Given the description of an element on the screen output the (x, y) to click on. 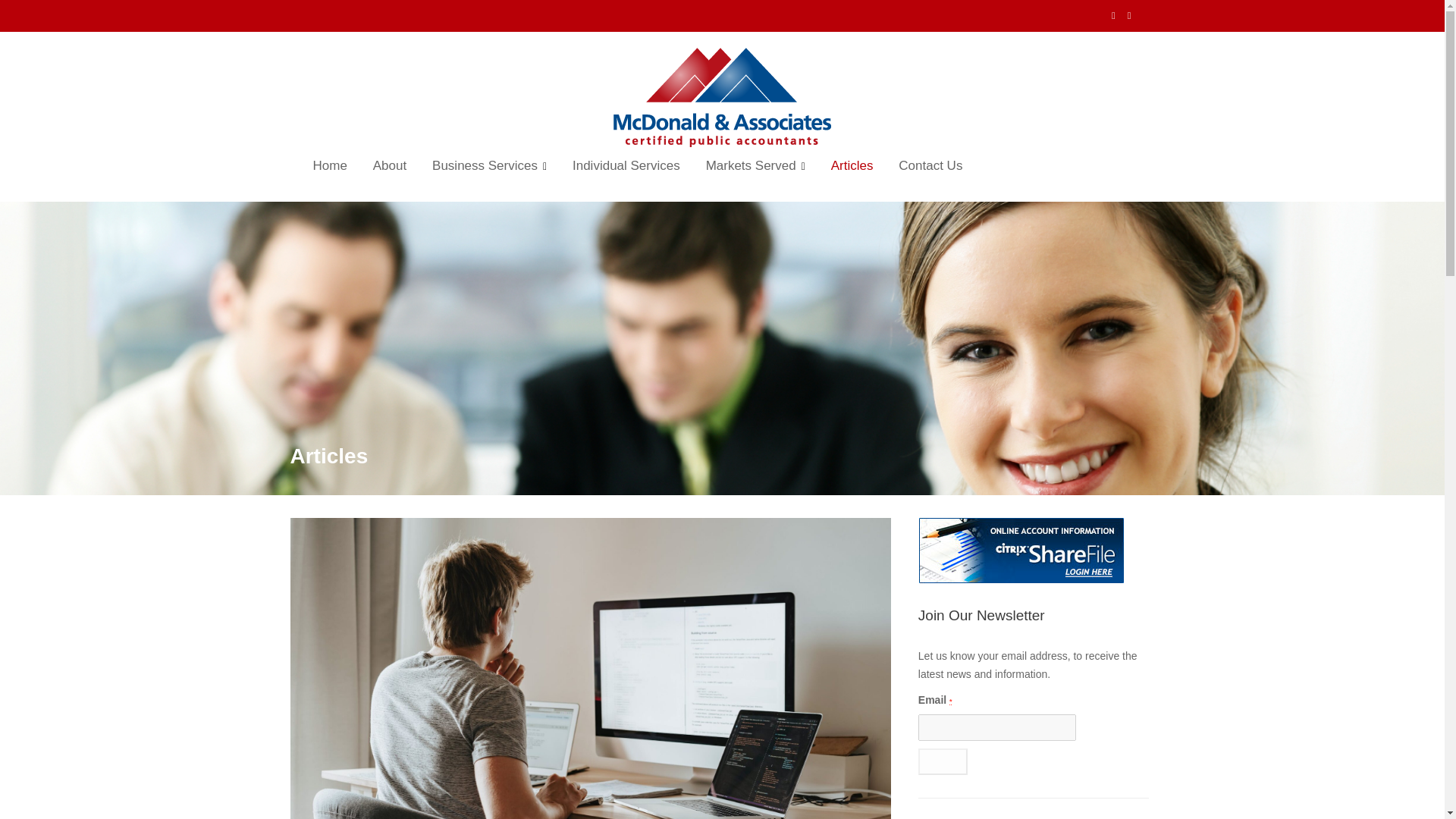
Markets Served (755, 166)
Home (329, 166)
Business Services (488, 166)
Contact Us (930, 166)
Submit (943, 761)
Individual Services (625, 166)
About (389, 166)
Submit (943, 761)
Articles (852, 166)
